Given the description of an element on the screen output the (x, y) to click on. 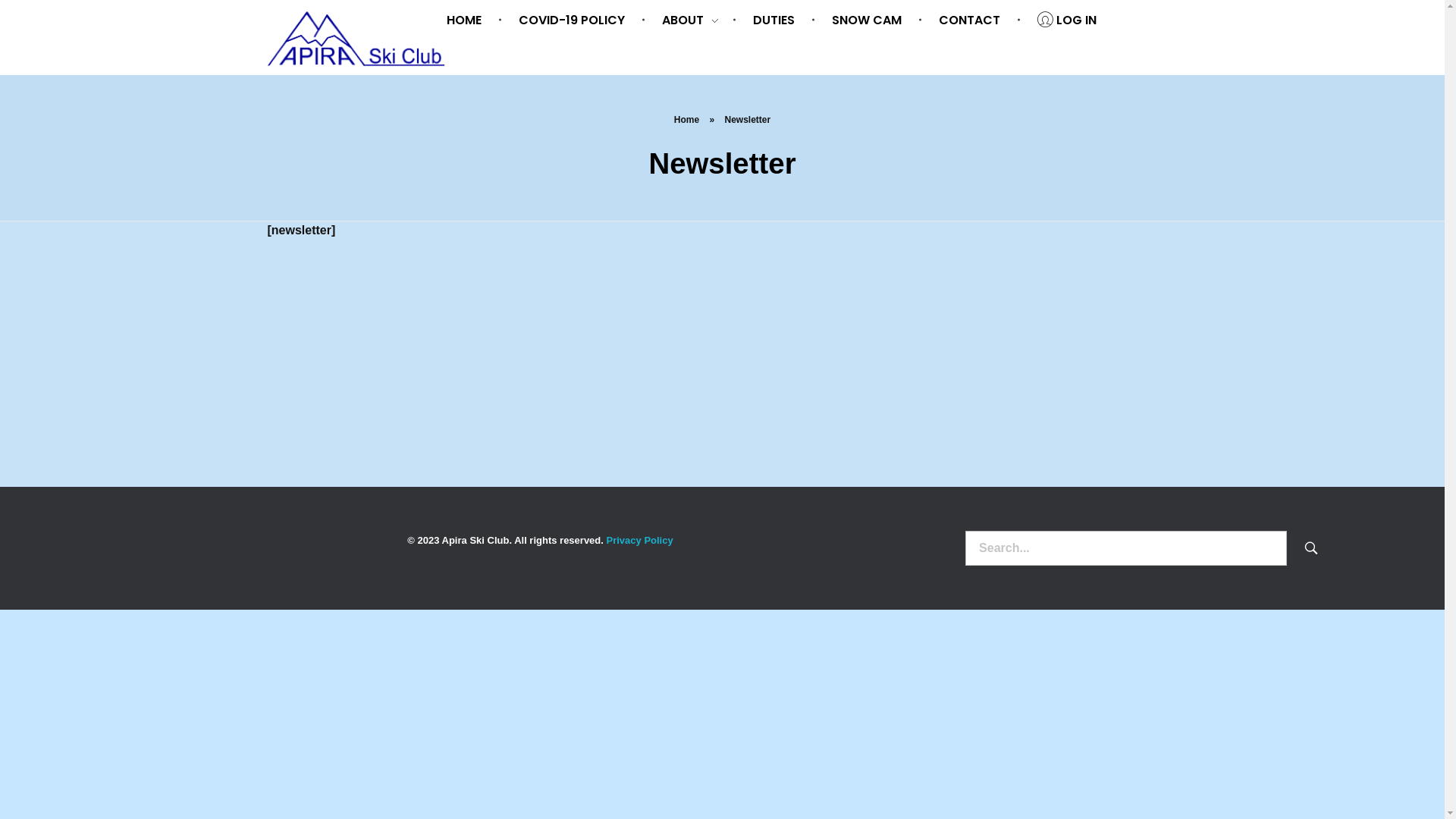
Apira Ski Club Element type: text (328, 78)
LOG IN Element type: text (1058, 20)
ABOUT Element type: text (691, 20)
Privacy Policy Element type: text (639, 540)
Search Element type: text (1313, 547)
Apira Ski Club Element type: hover (355, 40)
SNOW CAM Element type: text (868, 20)
HOME Element type: text (474, 20)
CONTACT Element type: text (971, 20)
COVID-19 POLICY Element type: text (574, 20)
DUTIES Element type: text (776, 20)
Home Element type: text (686, 119)
